Given the description of an element on the screen output the (x, y) to click on. 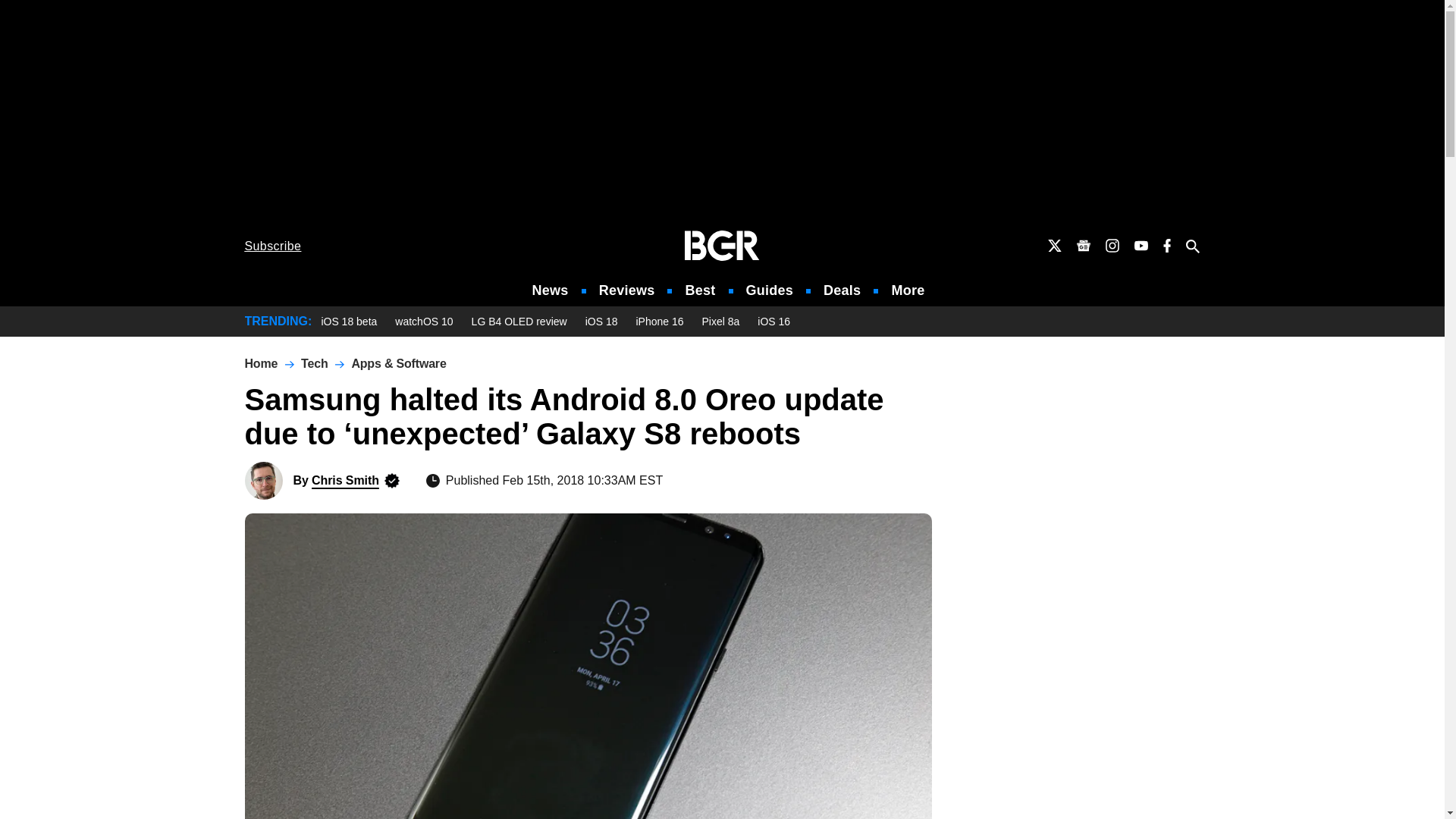
Posts by Chris Smith (344, 480)
Deals (842, 290)
Best (699, 290)
News (550, 290)
More (907, 290)
Subscribe (272, 245)
Reviews (626, 290)
Guides (769, 290)
